Given the description of an element on the screen output the (x, y) to click on. 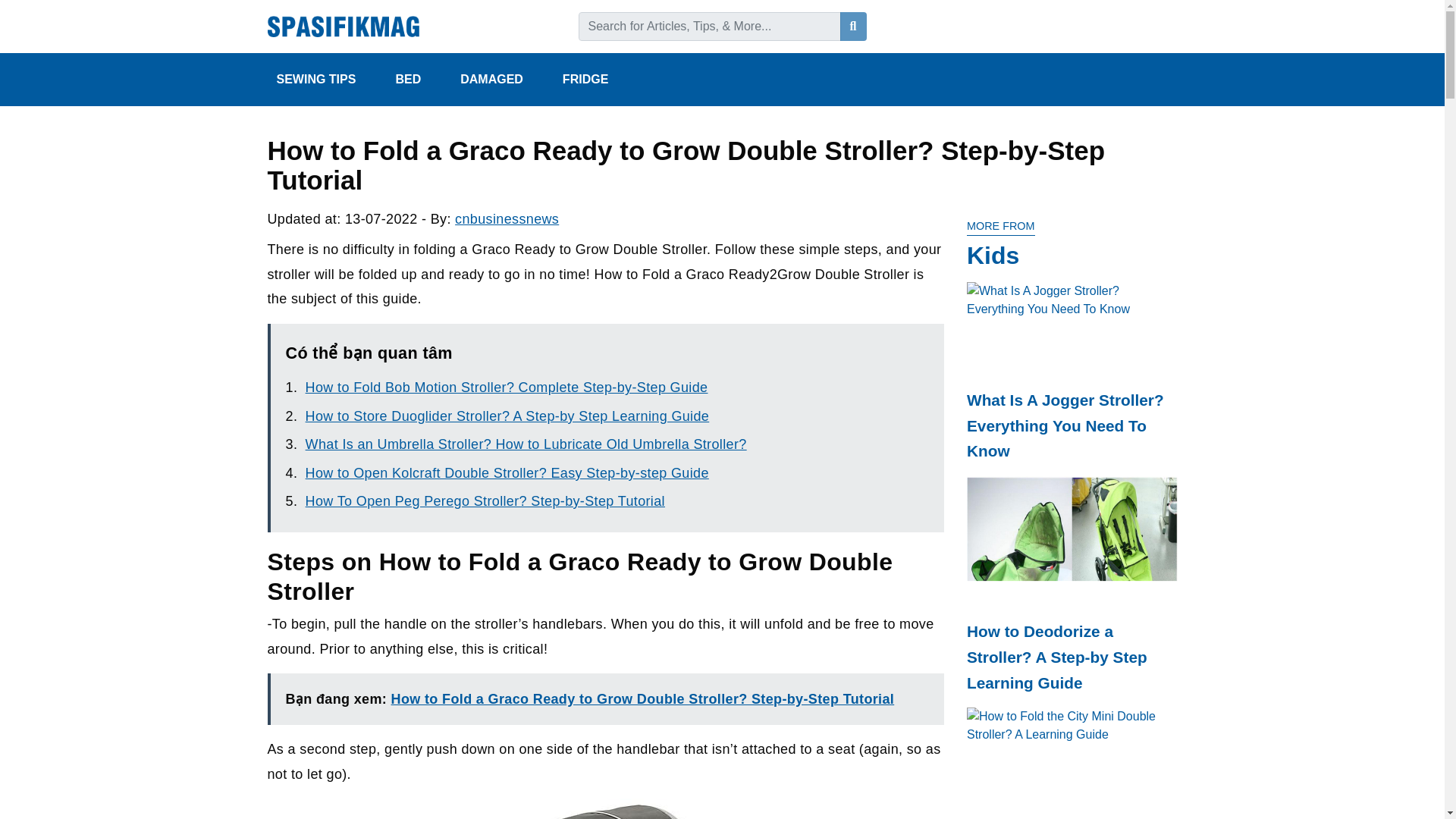
How to Fold Bob Motion Stroller? Complete Step-by-Step Guide (506, 387)
DAMAGED (502, 79)
FRIDGE (596, 79)
How To Open Peg Perego Stroller? Step-by-Step Tutorial (485, 500)
BED (418, 79)
SEWING TIPS (325, 79)
How To Open Peg Perego Stroller? Step-by-Step Tutorial (485, 500)
